Given the description of an element on the screen output the (x, y) to click on. 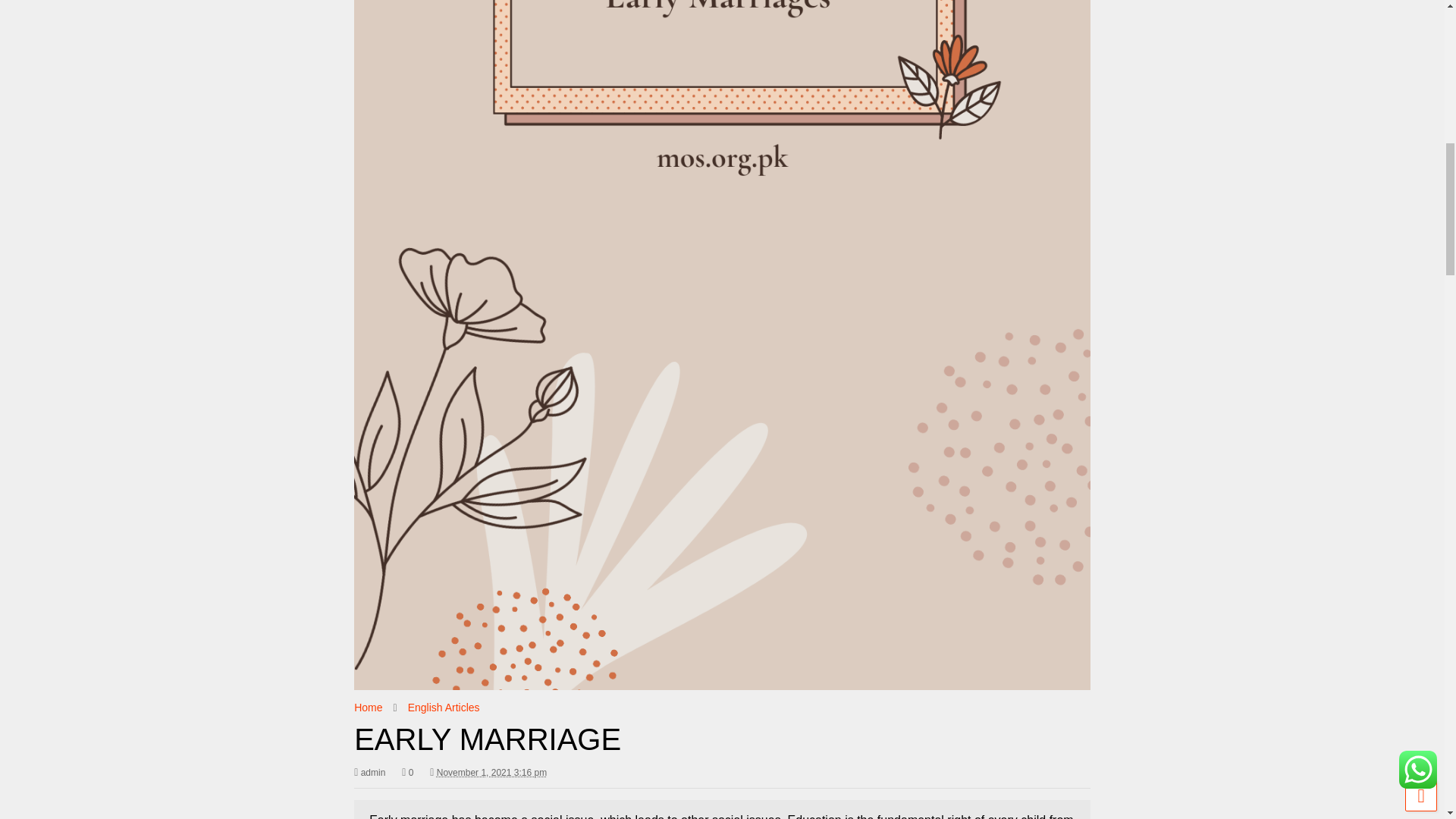
admin (369, 772)
November 1, 2021 4:02 pm (491, 772)
